Given the description of an element on the screen output the (x, y) to click on. 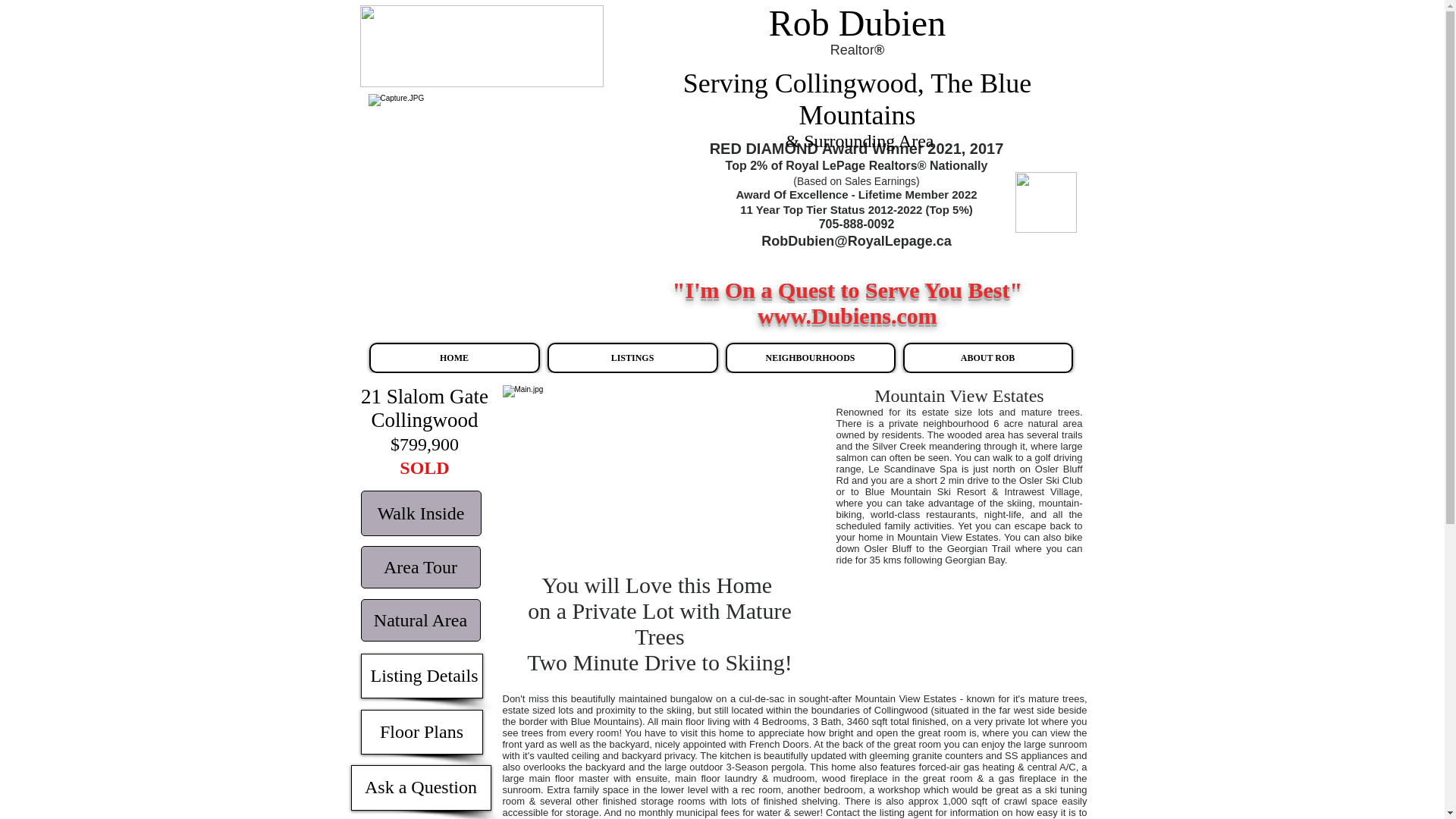
Listing Details (422, 675)
NEIGHBOURHOODS (810, 358)
www.Dubiens.com (847, 315)
Floor Plans (422, 732)
ABOUT ROB (986, 358)
Ask a Question (420, 787)
Walk Inside (421, 513)
LISTINGS (632, 358)
HOME (453, 358)
6 acre natural area (1036, 423)
Area Tour (420, 567)
Natural Area (420, 619)
Main.jpeg (655, 477)
RLP LN for ads.JPG (480, 45)
